Given the description of an element on the screen output the (x, y) to click on. 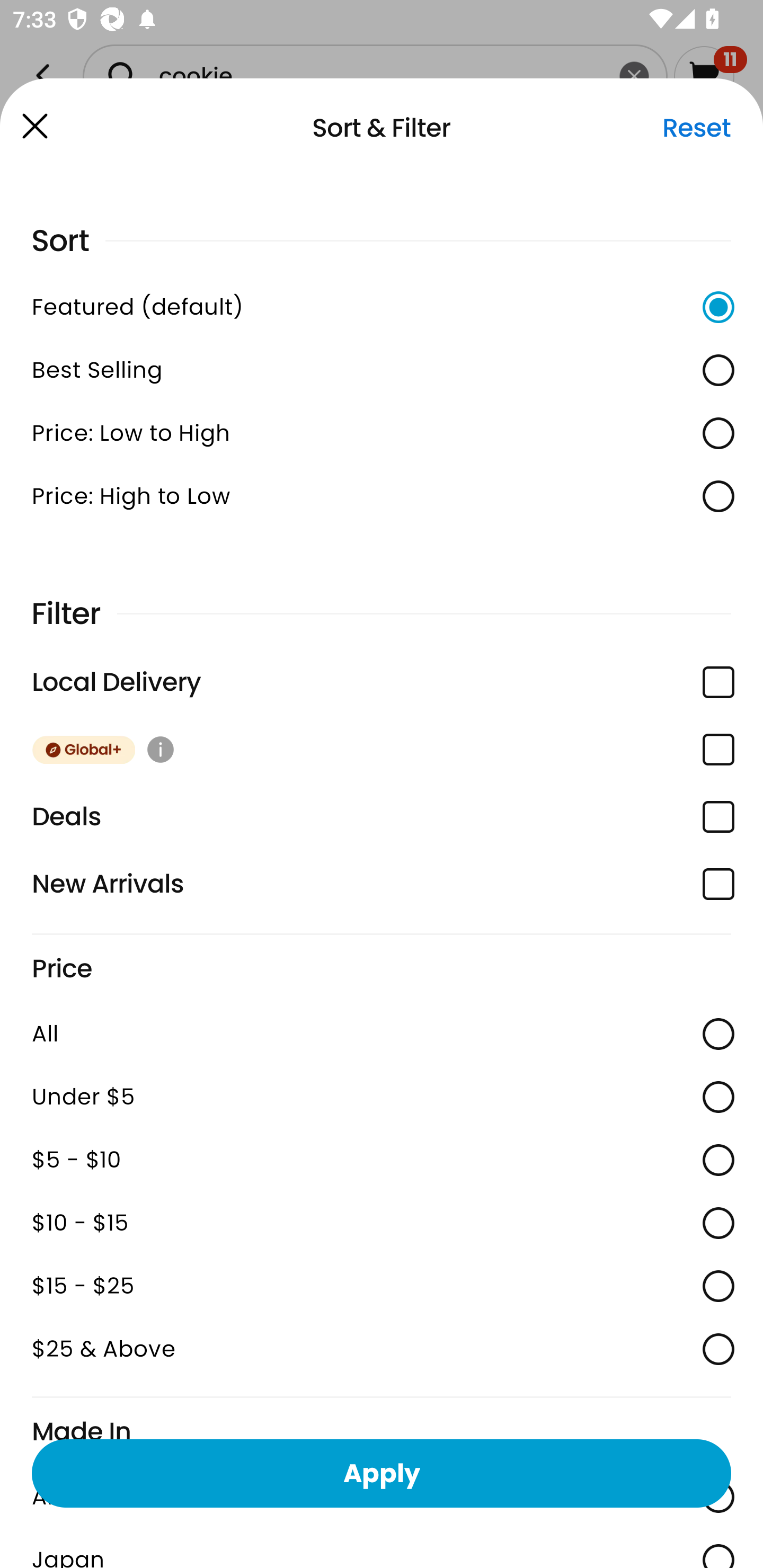
Reset (696, 127)
Apply (381, 1472)
